Given the description of an element on the screen output the (x, y) to click on. 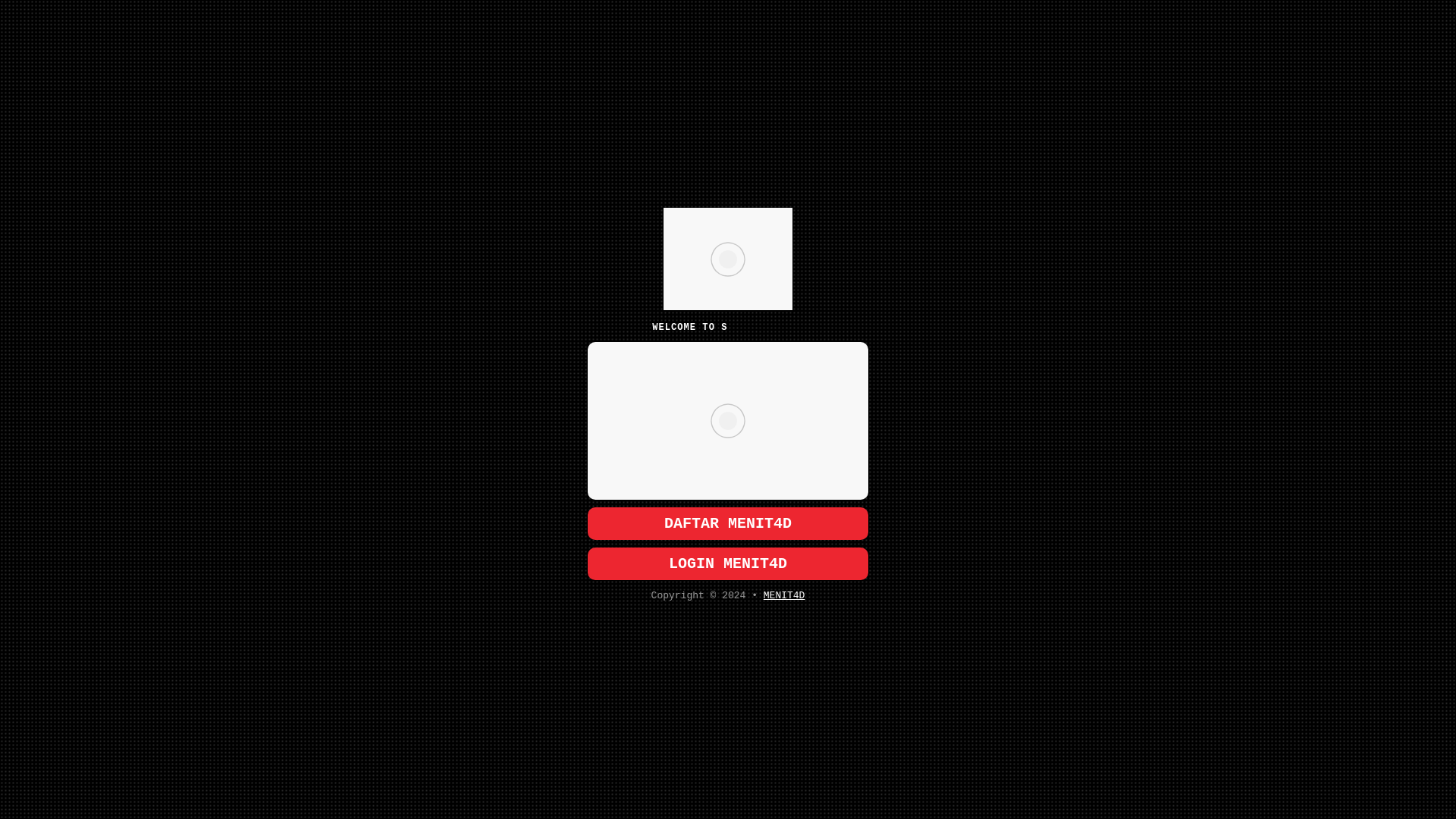
MENIT4D (783, 595)
LOGIN MENIT4D (727, 563)
DAFTAR MENIT4D (727, 522)
